Given the description of an element on the screen output the (x, y) to click on. 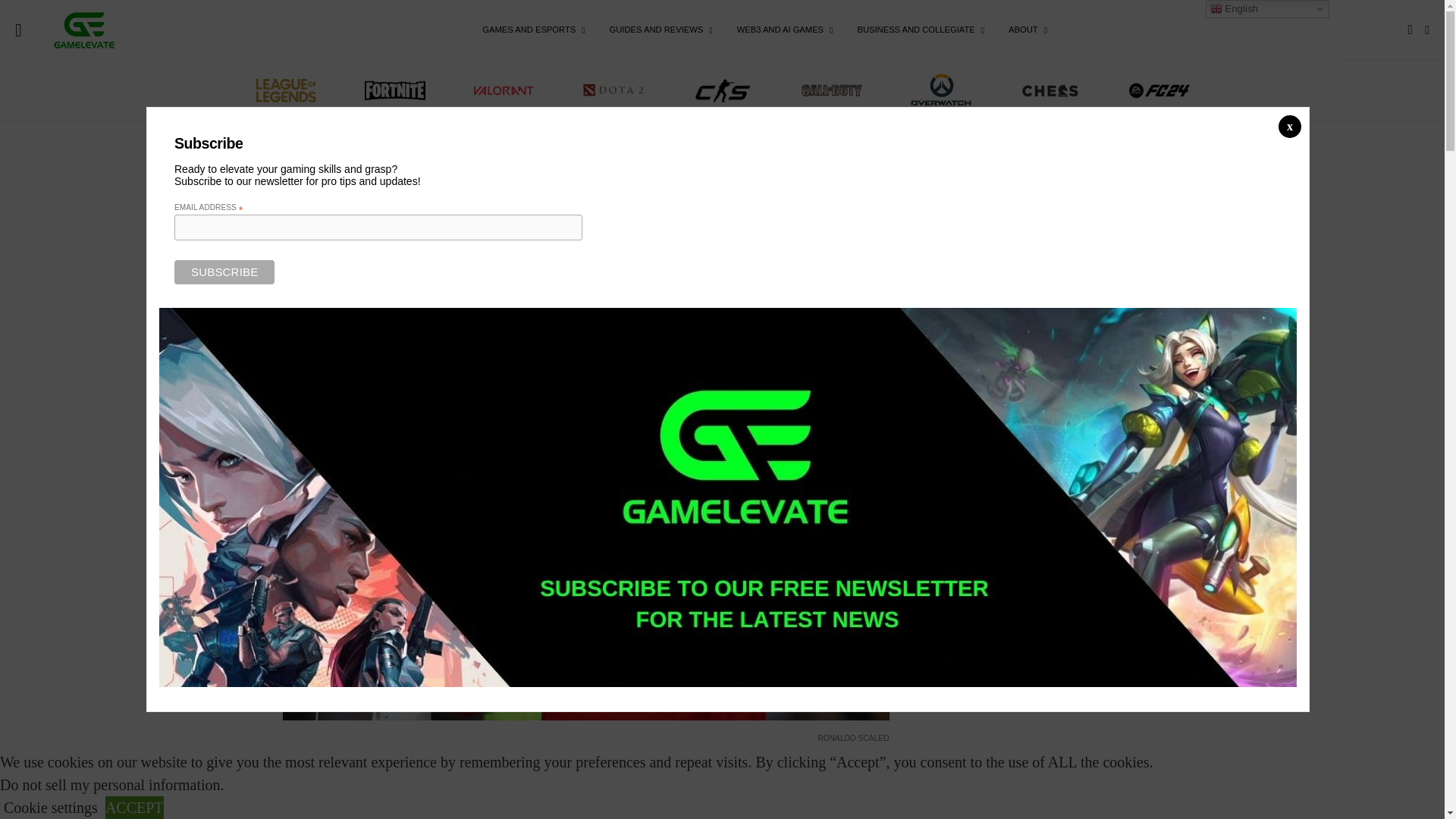
Go (1047, 466)
View all posts by James Metcalfe (440, 335)
Subscribe (224, 272)
